Given the description of an element on the screen output the (x, y) to click on. 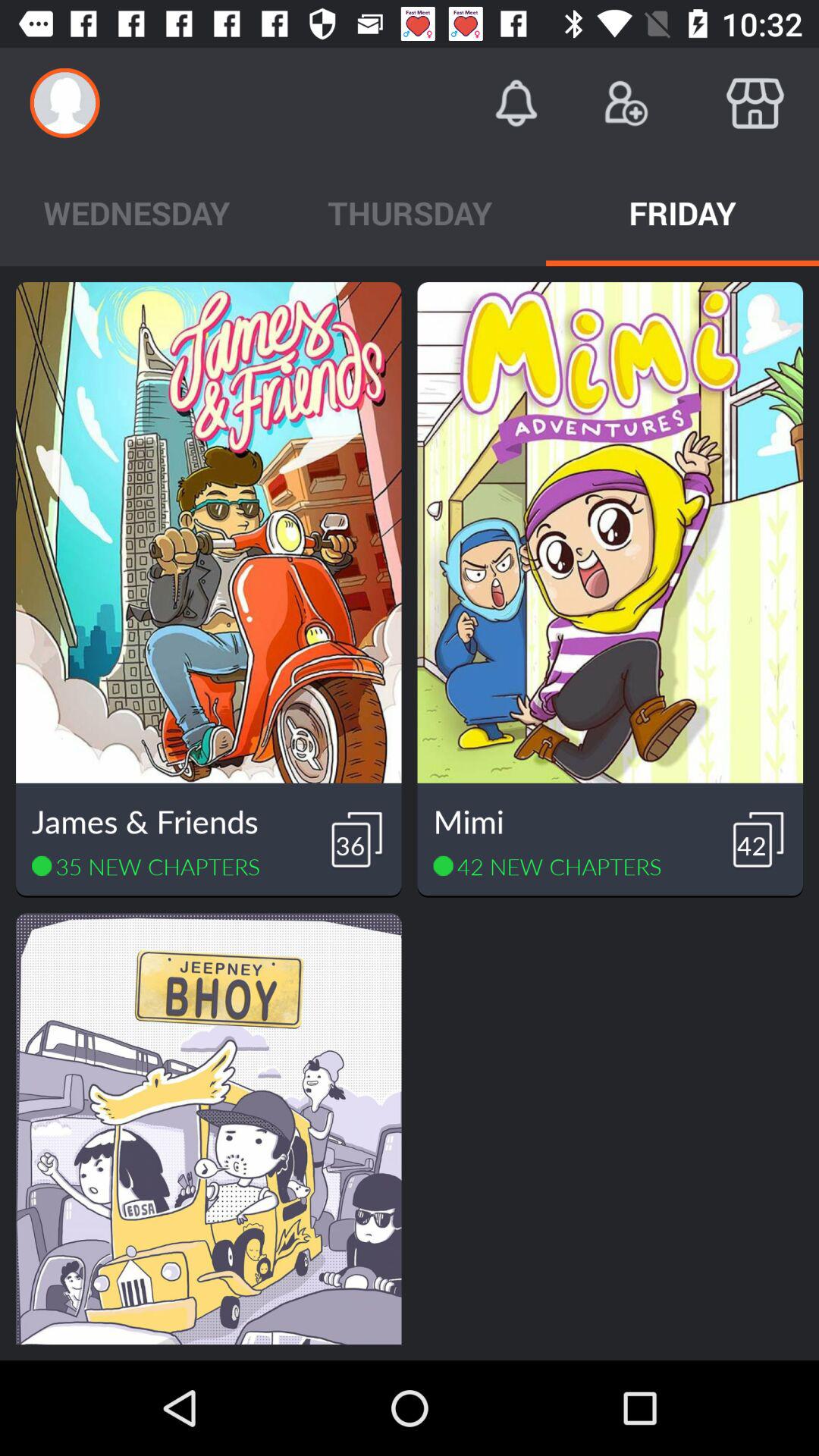
tap the friday  item (682, 212)
